Given the description of an element on the screen output the (x, y) to click on. 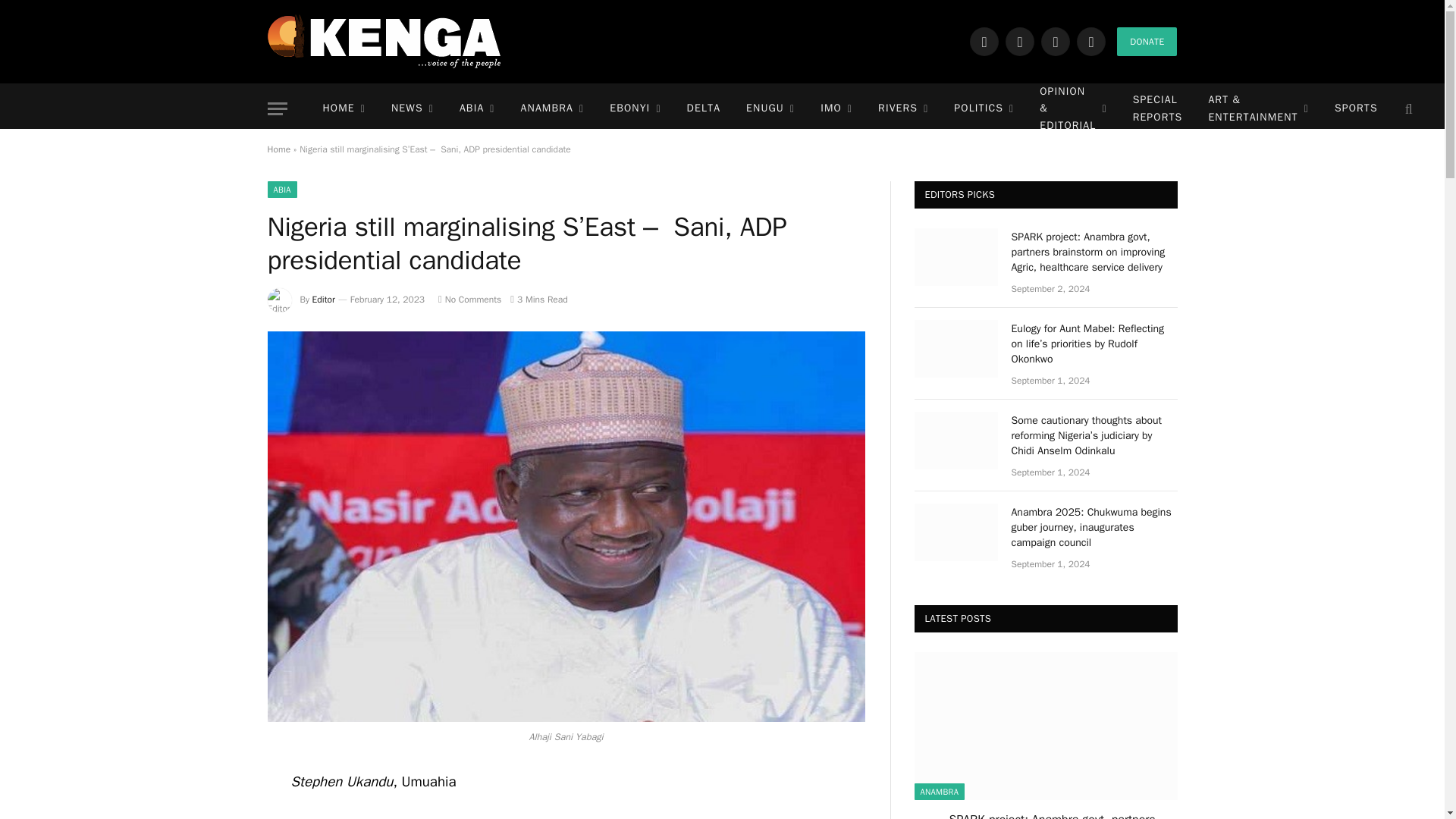
NEWS (412, 108)
Facebook (983, 41)
Twitter (1019, 41)
HOME (342, 108)
Instagram (1055, 41)
Ikenga Online (383, 41)
YouTube (1091, 41)
DONATE (1146, 41)
